Given the description of an element on the screen output the (x, y) to click on. 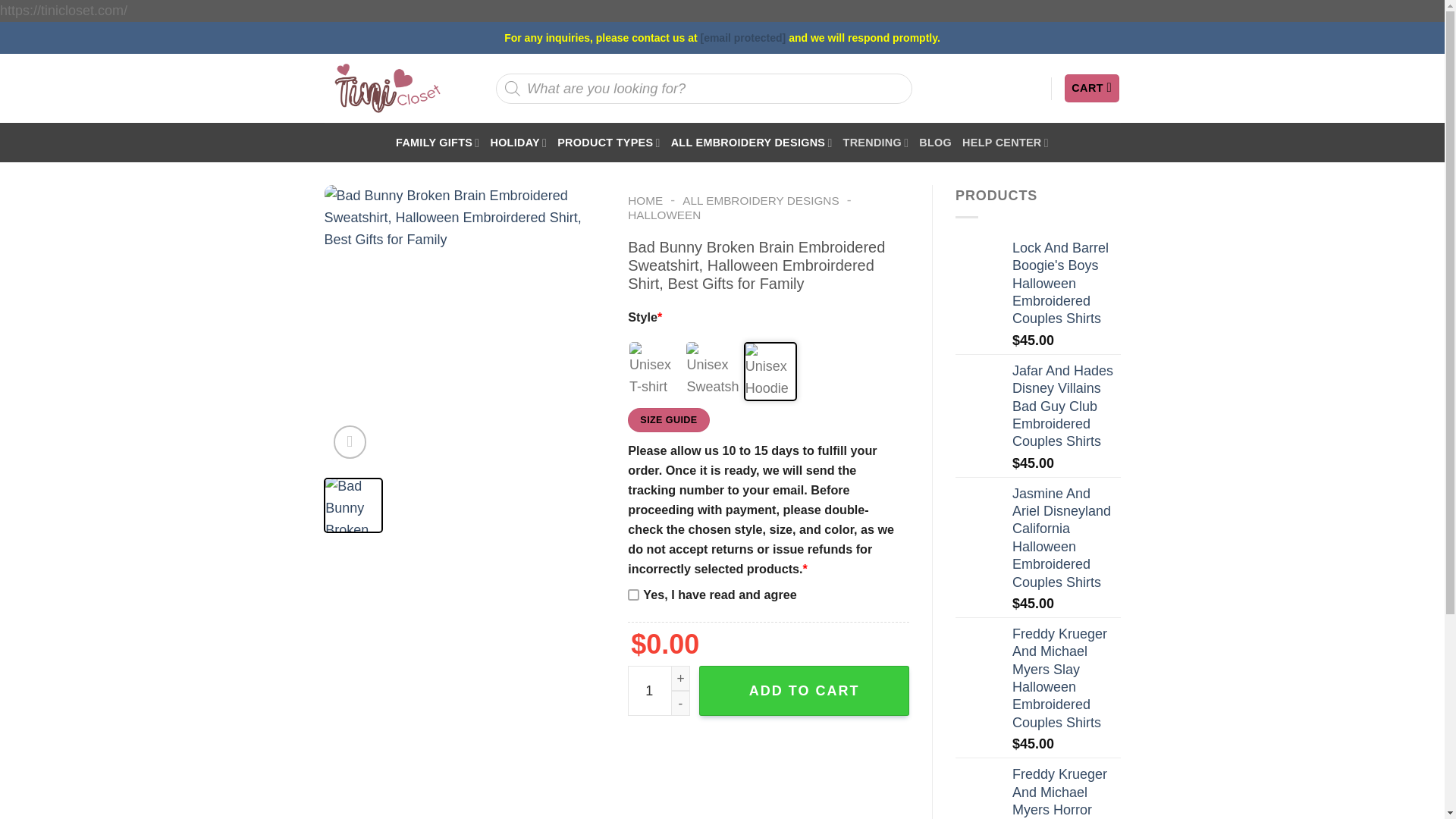
ALL EMBROIDERY DESIGNS (751, 142)
PRODUCT TYPES (608, 142)
1 (658, 690)
FAMILY GIFTS (437, 142)
Small Gifts Great Love (386, 88)
CART (1091, 88)
Cart (1091, 88)
